Given the description of an element on the screen output the (x, y) to click on. 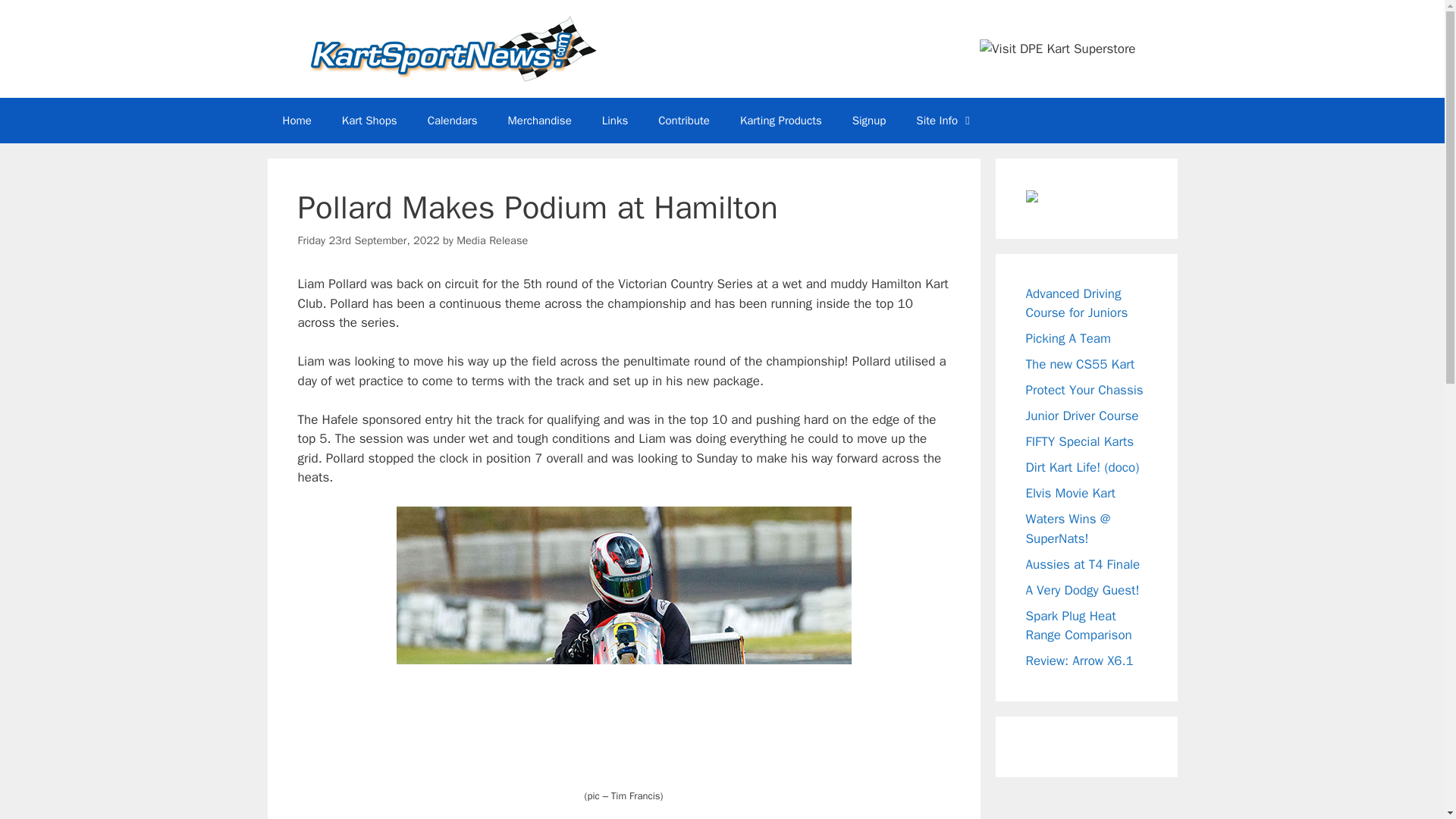
FIFTY Special Karts (1079, 441)
Contribute (684, 120)
Home (296, 120)
Picking A Team (1067, 338)
Kart Shops (369, 120)
Calendars (452, 120)
A Very Dodgy Guest! (1081, 590)
Aussies at T4 Finale (1082, 564)
The new CS55 Kart (1079, 364)
Site Info (945, 120)
